Given the description of an element on the screen output the (x, y) to click on. 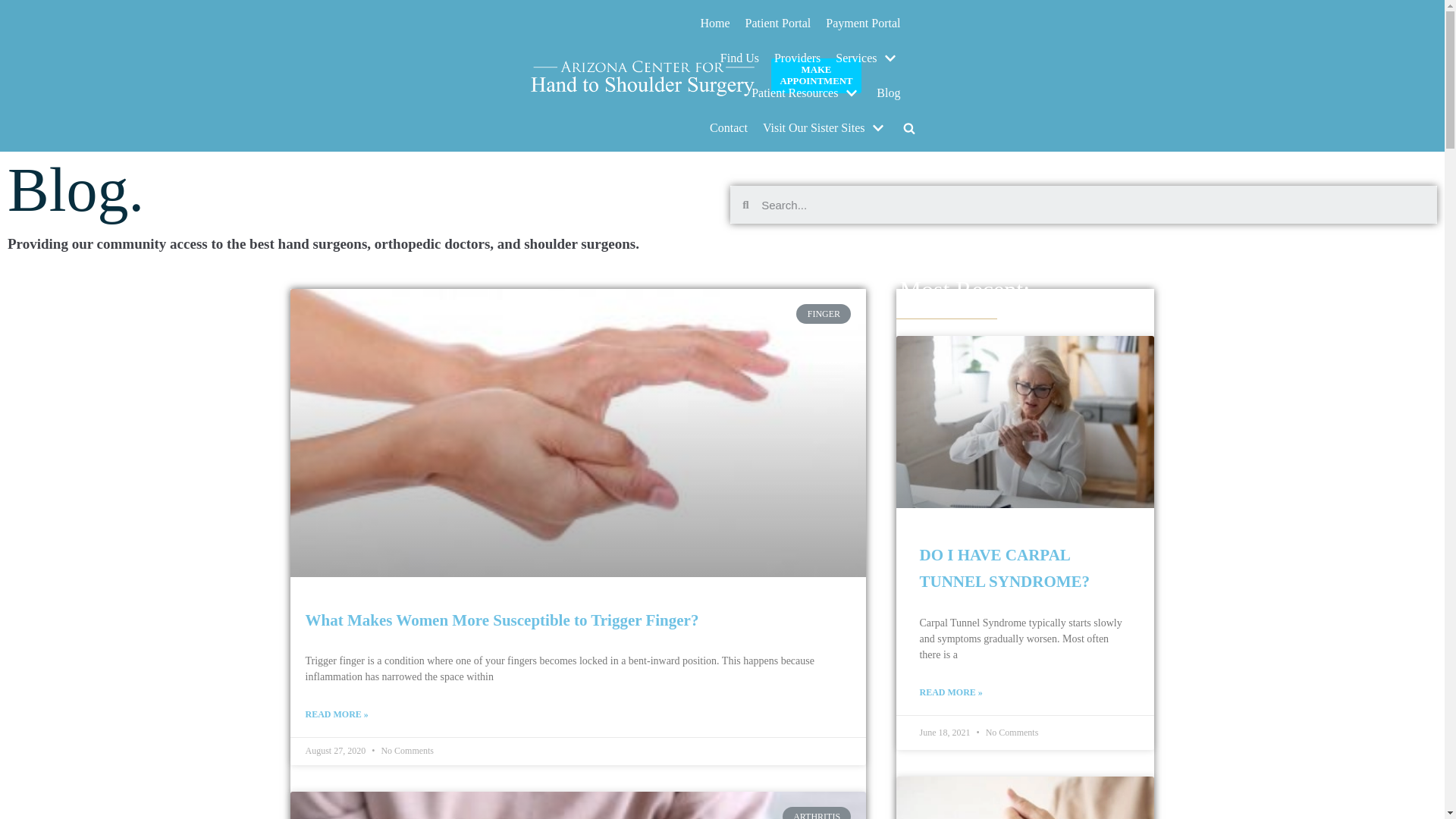
Patient Resources (806, 93)
Services (867, 57)
Find Us (739, 57)
Search (882, 165)
Home (715, 23)
Skip to content (15, 31)
Visit Our Sister Sites (825, 127)
Patient Portal (777, 23)
Payment Portal (862, 23)
Contact (729, 127)
Blog (887, 93)
MAKE APPOINTMENT (815, 75)
Arizona Center for hand to shoulder surgery (642, 75)
Search (1093, 204)
Providers (797, 57)
